Given the description of an element on the screen output the (x, y) to click on. 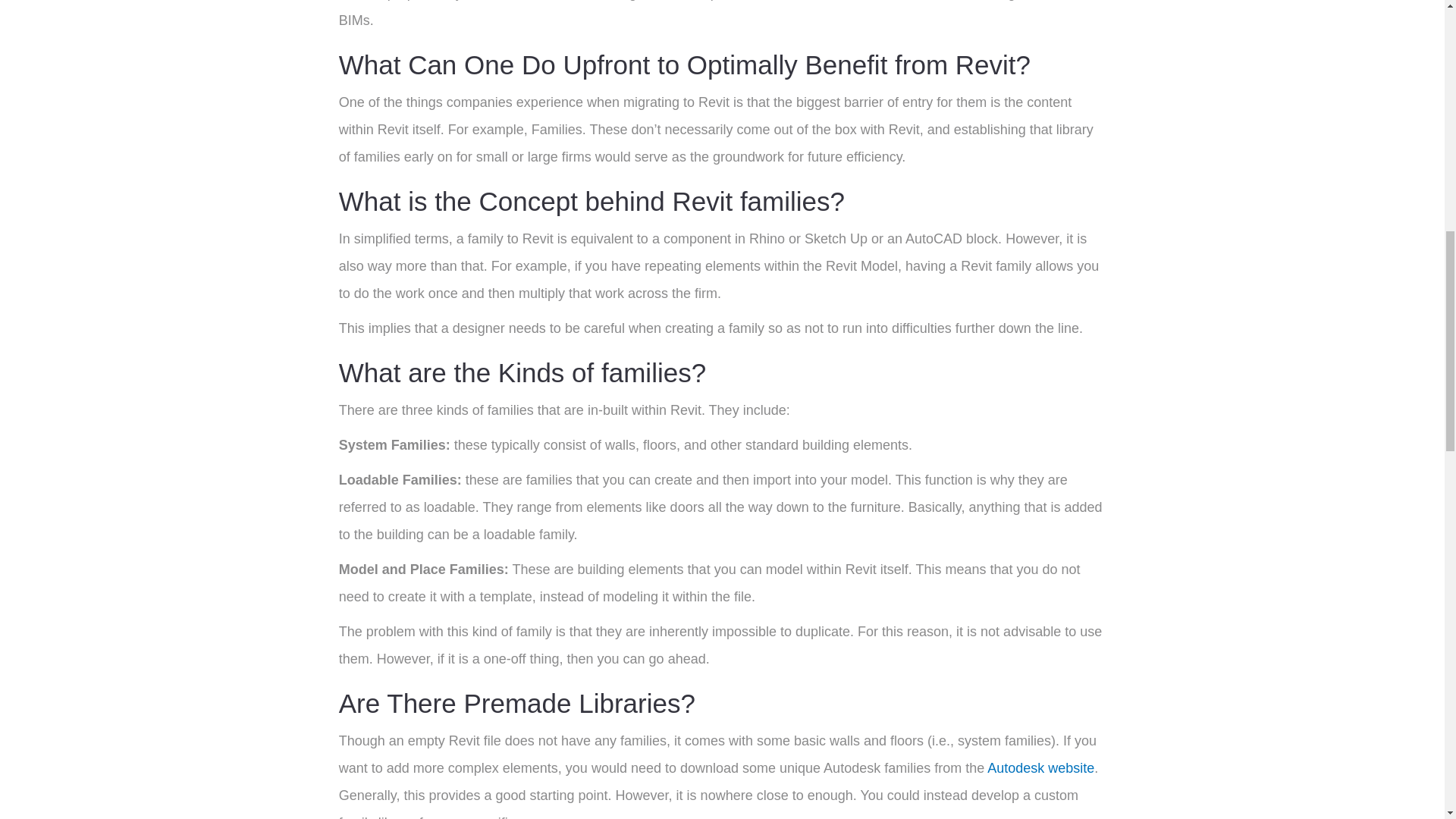
Autodesk website (1040, 767)
